Given the description of an element on the screen output the (x, y) to click on. 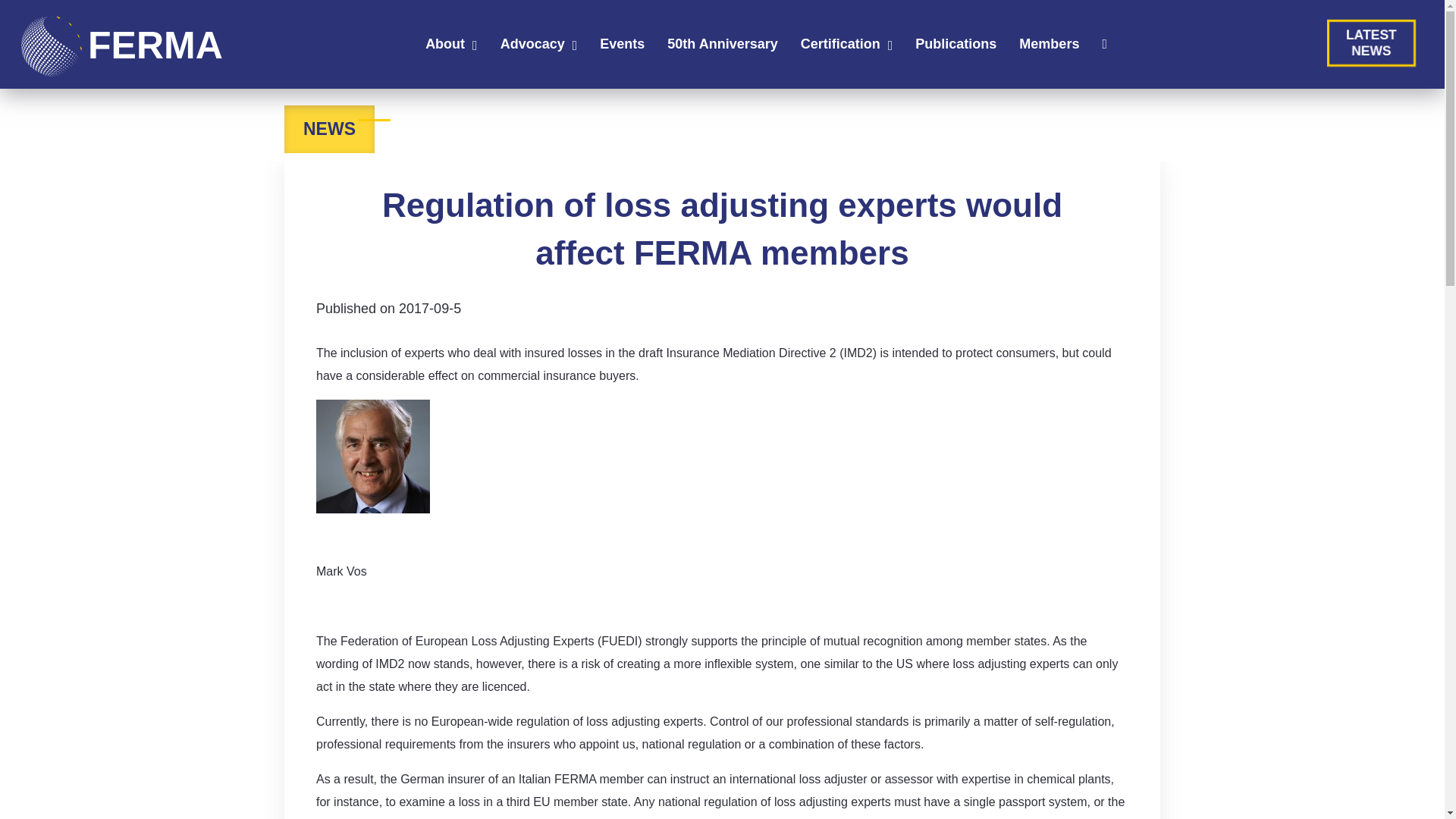
Members (1048, 48)
Certification (840, 48)
Advocacy (532, 48)
About (1370, 42)
50th Anniversary (444, 48)
Events (721, 48)
Publications (622, 48)
FERMA (955, 48)
